Given the description of an element on the screen output the (x, y) to click on. 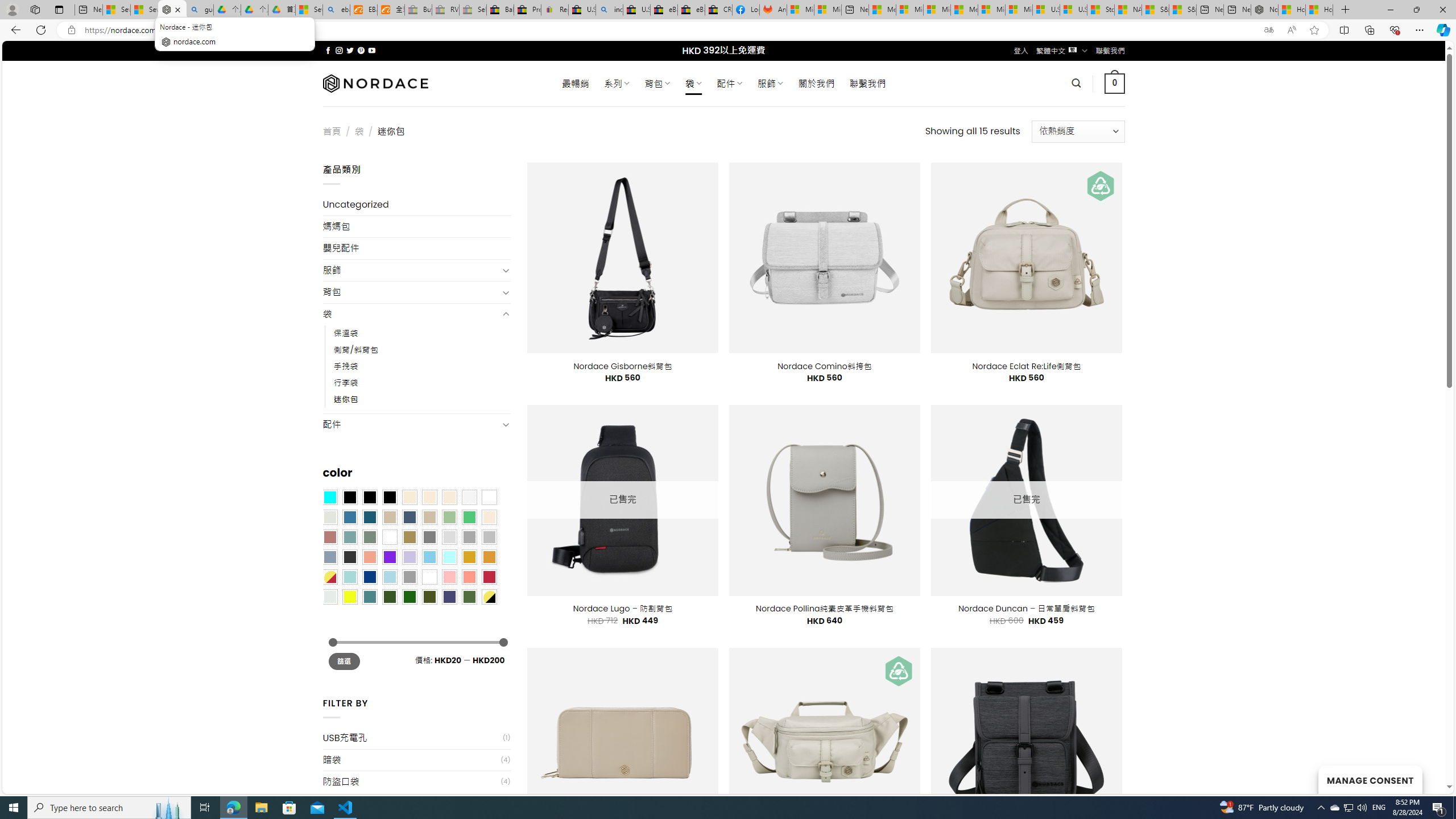
Follow on Instagram (338, 50)
Microsoft account | Privacy (909, 9)
